Given the description of an element on the screen output the (x, y) to click on. 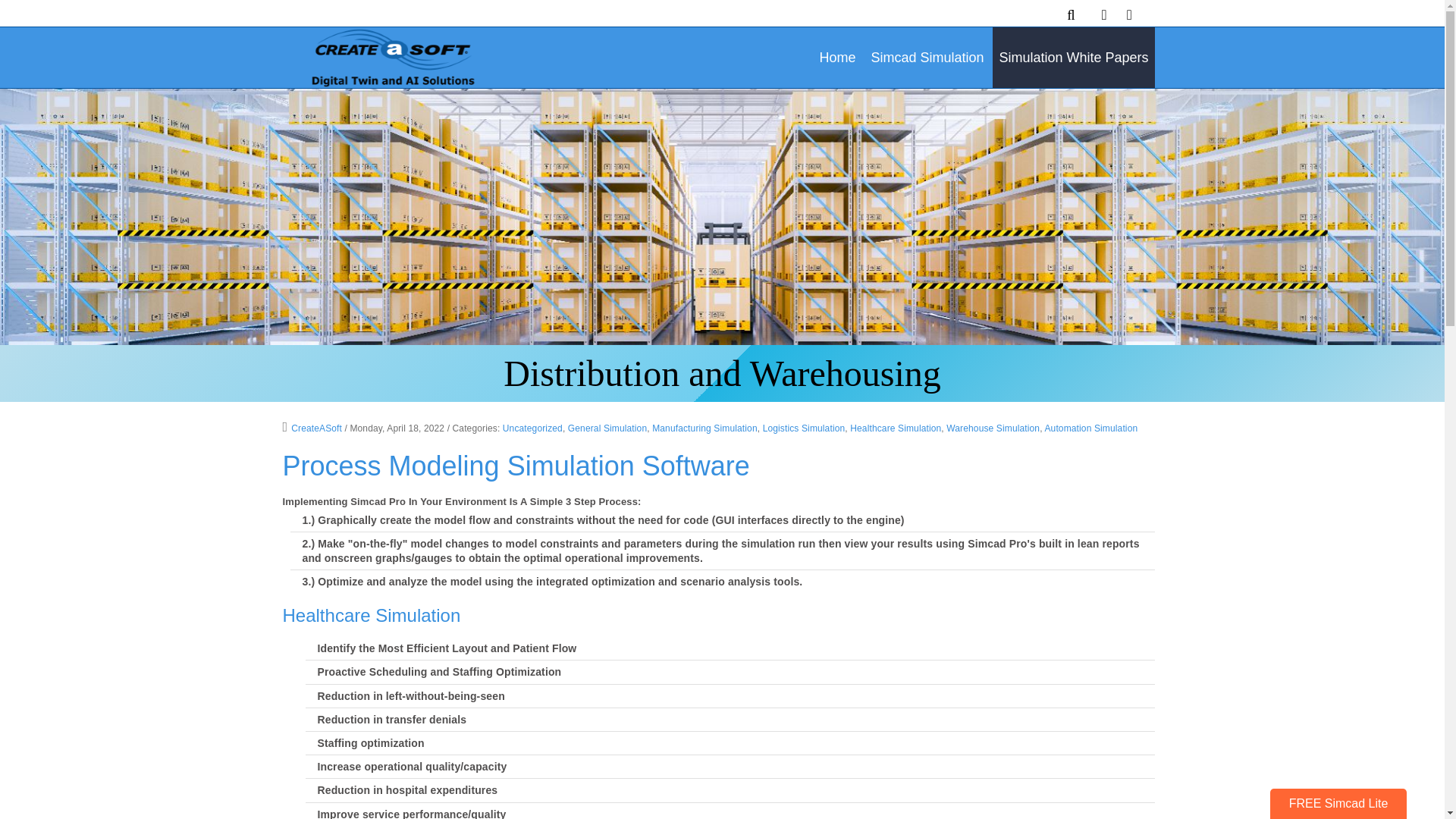
CreateASoft (312, 428)
Uncategorized (532, 428)
General Simulation (606, 428)
Warehouse Simulation (992, 428)
Simulation White Papers (1073, 57)
Healthcare Simulation (895, 428)
Simulation Software (389, 56)
Manufacturing Simulation (704, 428)
Automation Simulation (1090, 428)
Simcad Simulation (927, 57)
Logistics Simulation (803, 428)
